Given the description of an element on the screen output the (x, y) to click on. 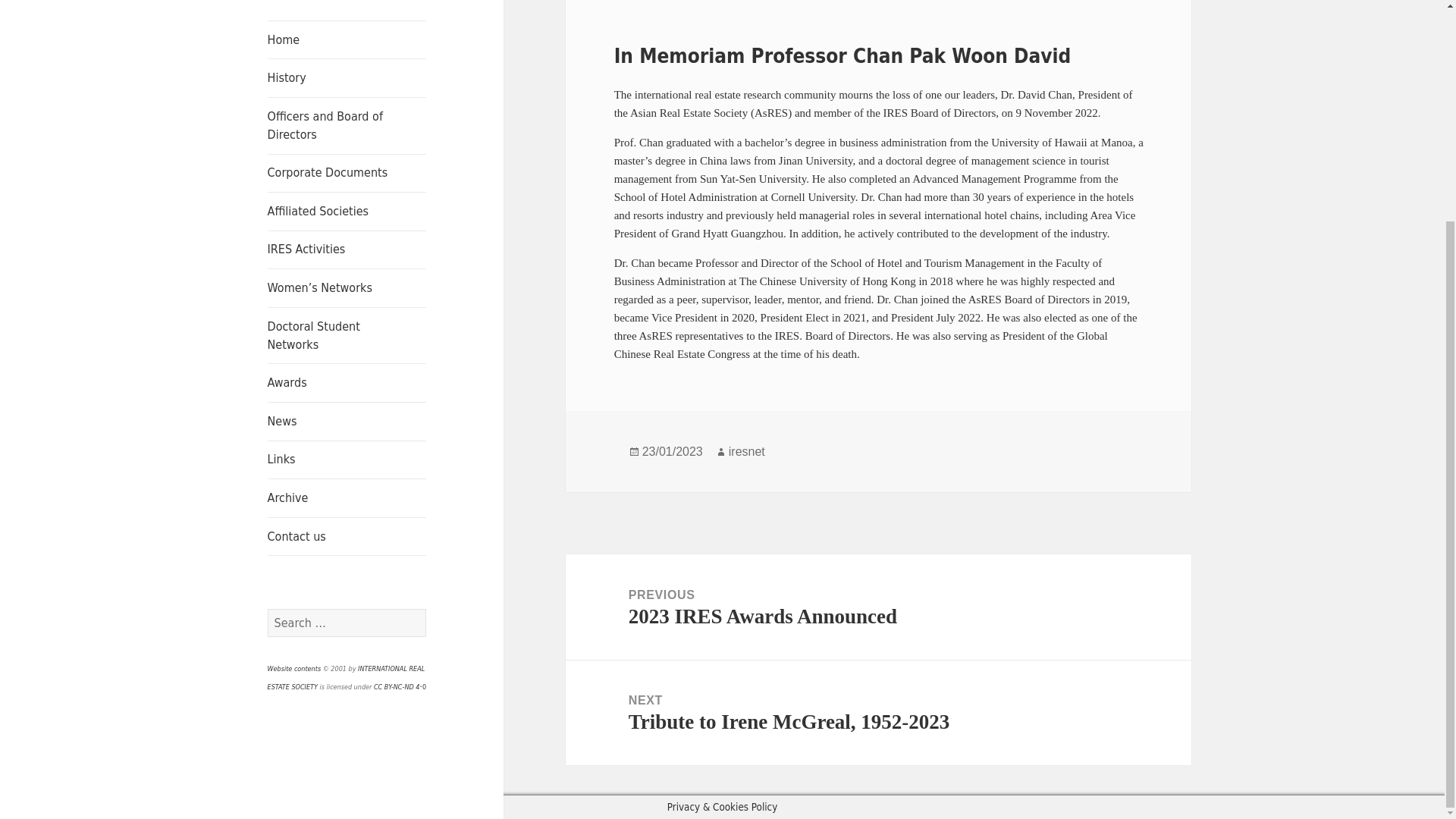
Home (346, 39)
Officers and Board of Directors (346, 125)
IRES Activities (346, 249)
Affiliated Societies (346, 211)
Doctoral Student Networks (346, 335)
Links (346, 460)
Awards (346, 382)
Corporate Documents (346, 172)
